Given the description of an element on the screen output the (x, y) to click on. 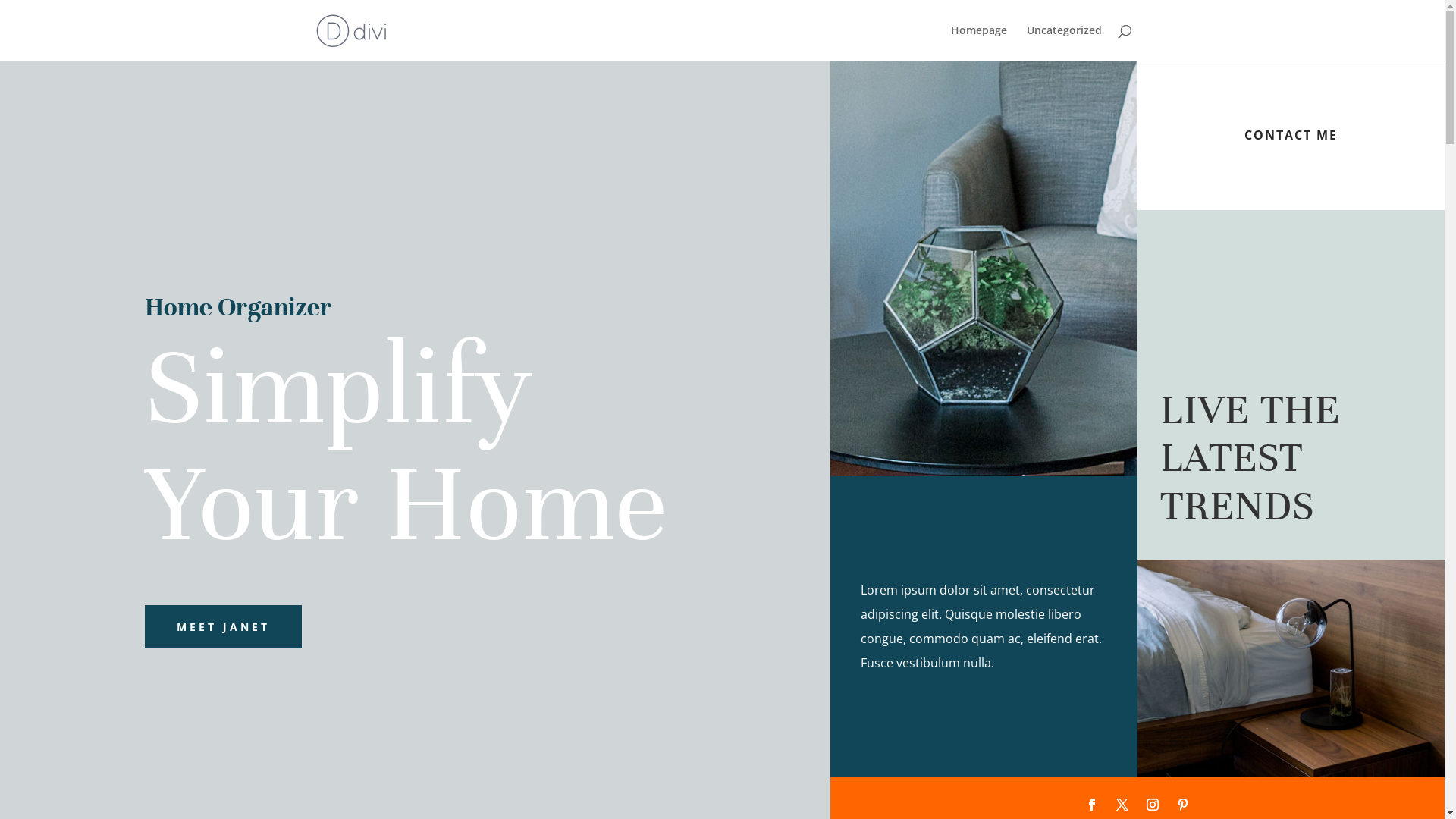
Homepage Element type: text (978, 42)
Follow on Facebook Element type: hover (1091, 804)
Follow on Instagram Element type: hover (1152, 804)
Uncategorized Element type: text (1063, 42)
Follow on Pinterest Element type: hover (1182, 804)
MEET JANET Element type: text (222, 627)
Follow on X Element type: hover (1122, 804)
